Given the description of an element on the screen output the (x, y) to click on. 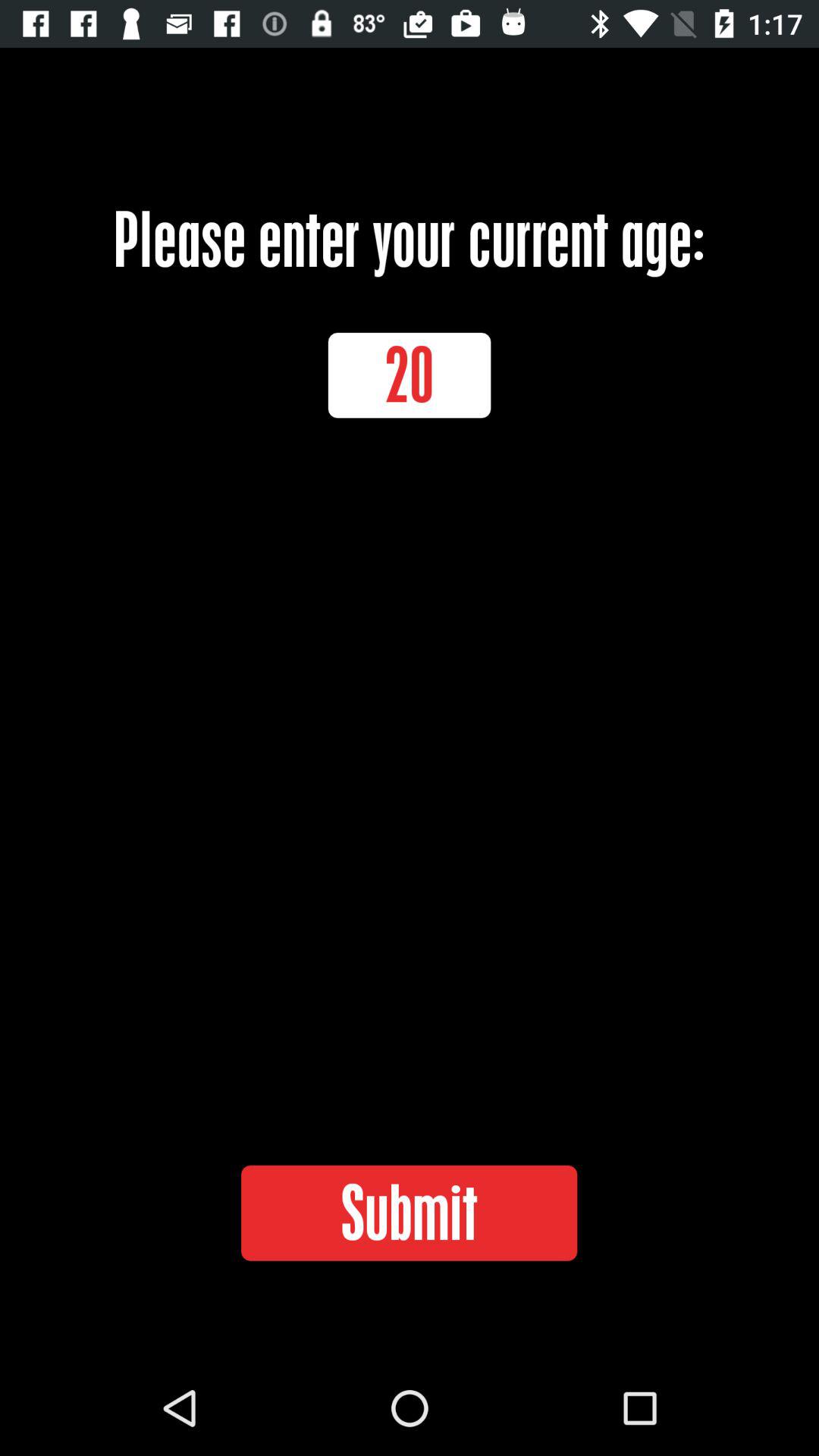
select submit item (409, 1212)
